Given the description of an element on the screen output the (x, y) to click on. 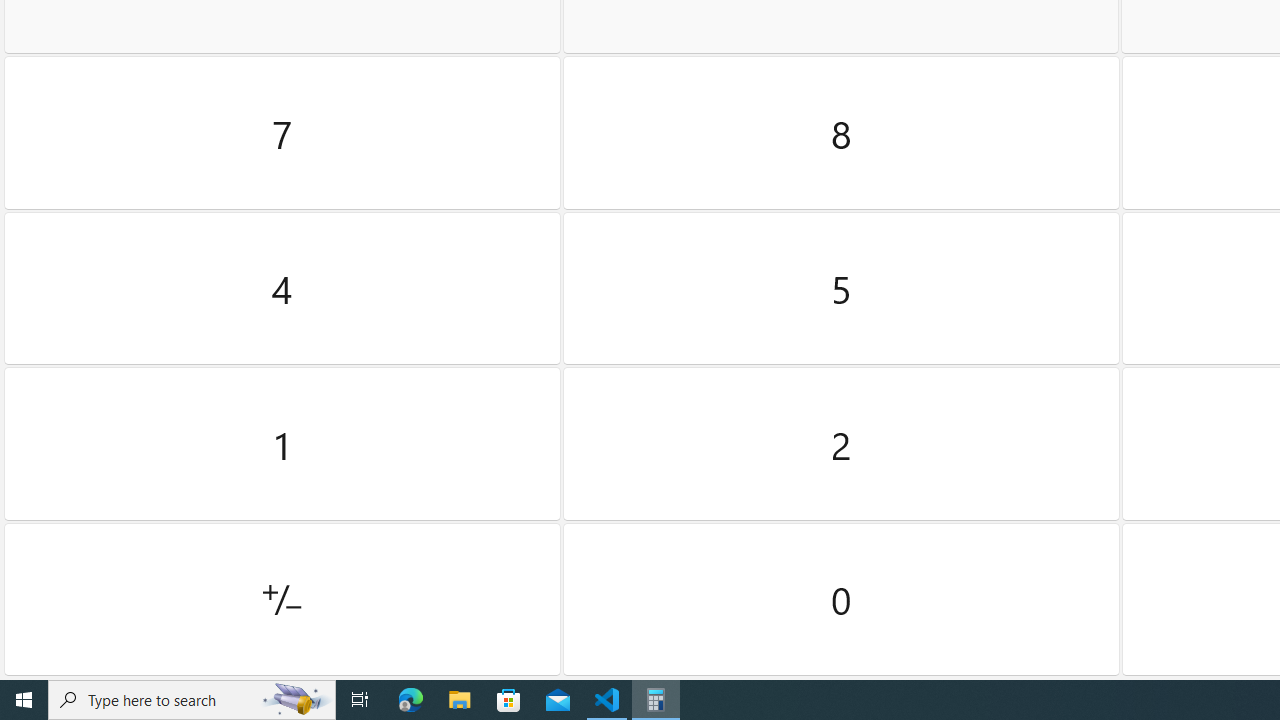
Microsoft Store (509, 699)
Five (841, 288)
Start (24, 699)
